Given the description of an element on the screen output the (x, y) to click on. 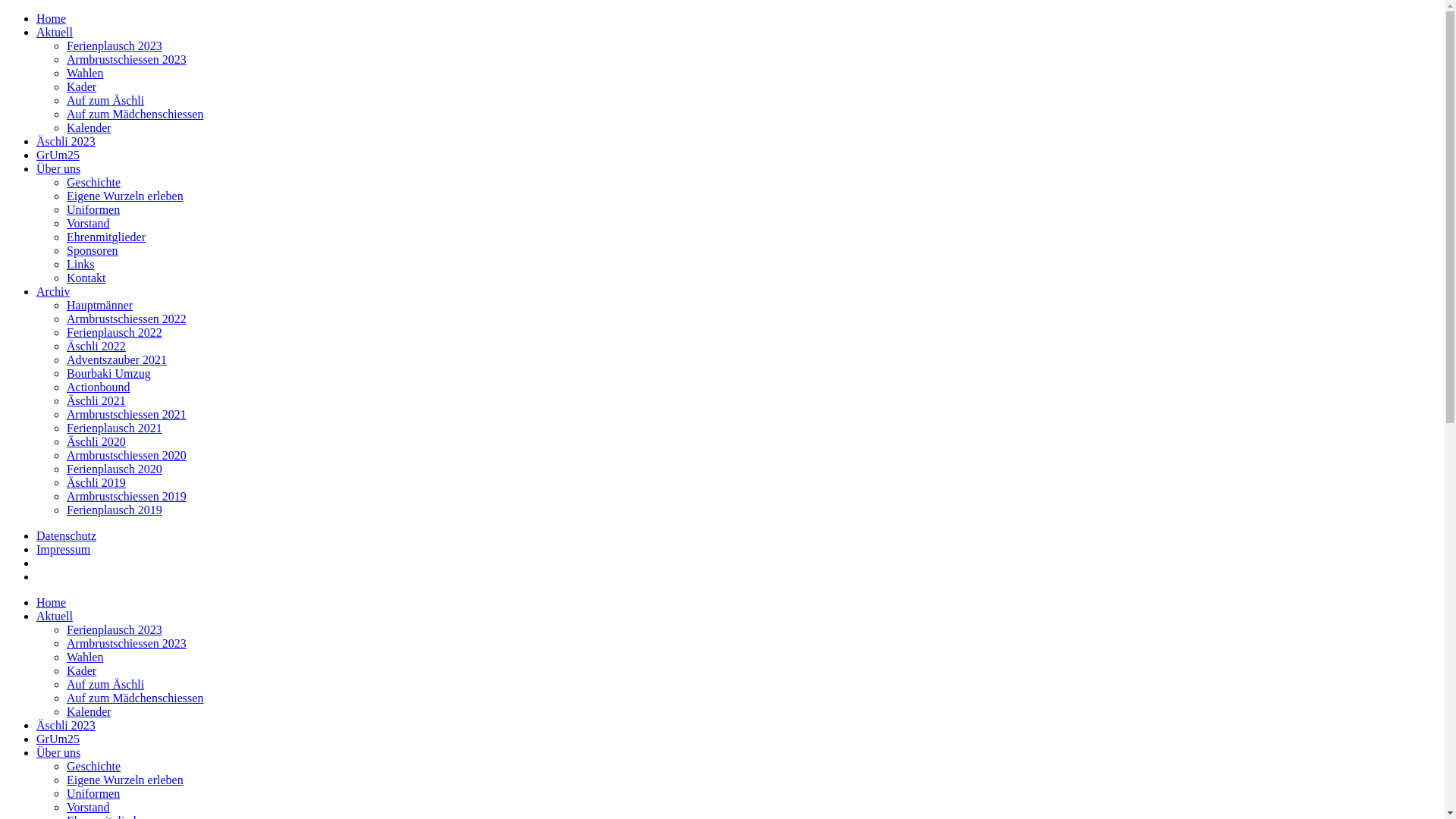
Datenschutz Element type: text (66, 535)
Vorstand Element type: text (87, 222)
Kader Element type: text (81, 86)
Geschichte Element type: text (93, 765)
Ferienplausch 2019 Element type: text (114, 509)
Armbrustschiessen 2019 Element type: text (126, 495)
Kalender Element type: text (88, 711)
Ferienplausch 2020 Element type: text (114, 468)
Armbrustschiessen 2023 Element type: text (126, 59)
Ferienplausch 2023 Element type: text (114, 45)
Home Element type: text (50, 602)
Sponsoren Element type: text (92, 250)
Vorstand Element type: text (87, 806)
Kontakt Element type: text (86, 277)
GrUm25 Element type: text (57, 738)
Impressum Element type: text (63, 548)
Actionbound Element type: text (98, 386)
Armbrustschiessen 2022 Element type: text (126, 318)
Ferienplausch 2022 Element type: text (114, 332)
Kader Element type: text (81, 670)
Armbrustschiessen 2023 Element type: text (126, 643)
Uniformen Element type: text (92, 209)
Links Element type: text (80, 263)
Armbrustschiessen 2020 Element type: text (126, 454)
GrUm25 Element type: text (57, 154)
Bourbaki Umzug Element type: text (108, 373)
Aktuell Element type: text (54, 31)
Ferienplausch 2023 Element type: text (114, 629)
Aktuell Element type: text (54, 615)
Archiv Element type: text (52, 291)
Wahlen Element type: text (84, 656)
Kalender Element type: text (88, 127)
Wahlen Element type: text (84, 72)
Geschichte Element type: text (93, 181)
Adventszauber 2021 Element type: text (116, 359)
Home Element type: text (50, 18)
Armbrustschiessen 2021 Element type: text (126, 413)
Uniformen Element type: text (92, 793)
Eigene Wurzeln erleben Element type: text (124, 195)
Eigene Wurzeln erleben Element type: text (124, 779)
Ehrenmitglieder Element type: text (105, 236)
Ferienplausch 2021 Element type: text (114, 427)
